Given the description of an element on the screen output the (x, y) to click on. 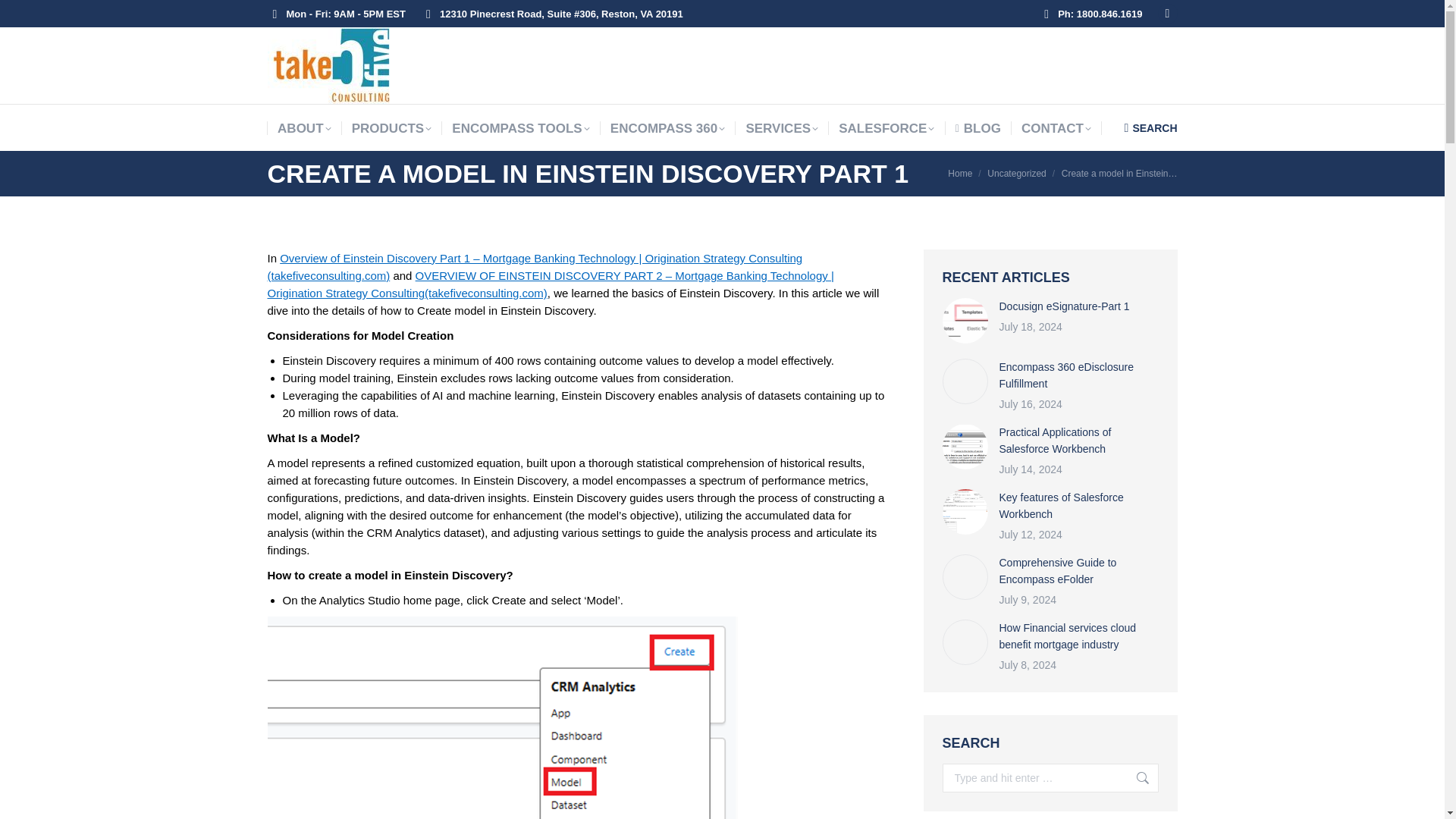
ENCOMPASS TOOLS (520, 128)
Go! (1135, 777)
Linkedin page opens in new window (1166, 13)
Linkedin page opens in new window (1166, 13)
PRODUCTS (391, 128)
ENCOMPASS 360 (667, 128)
ABOUT (304, 128)
Home (959, 173)
Ph: 1800.846.1619 (1090, 12)
Uncategorized (1016, 173)
Go! (1135, 777)
